Given the description of an element on the screen output the (x, y) to click on. 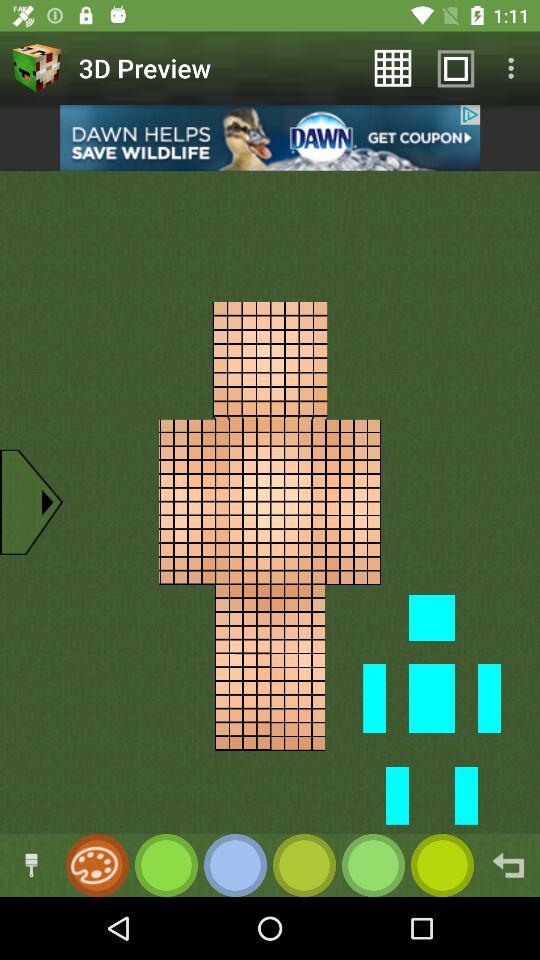
go back button (508, 865)
